Given the description of an element on the screen output the (x, y) to click on. 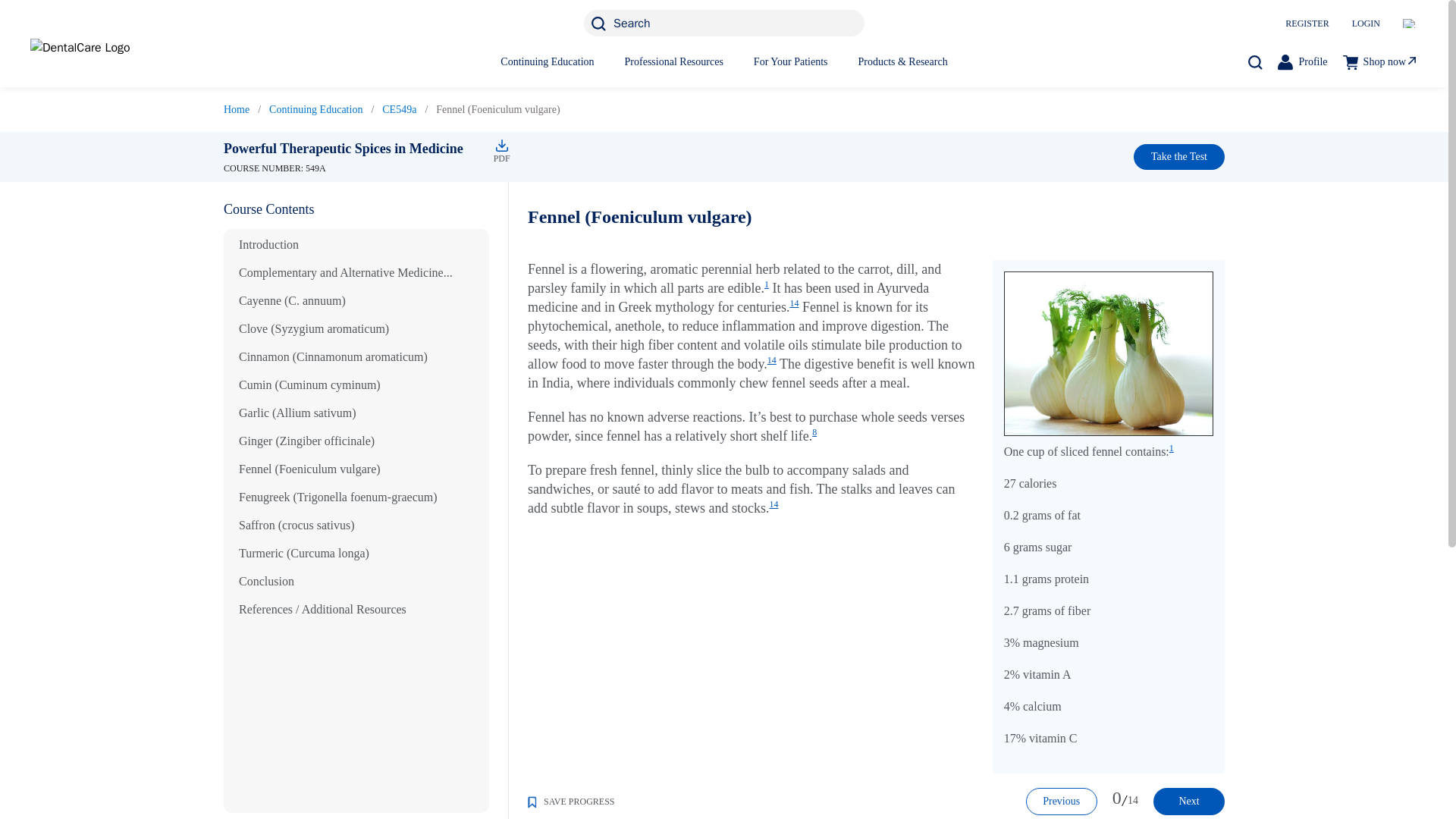
Introduction (268, 244)
Shop now (1380, 61)
Profile (1302, 61)
LOGIN (1366, 22)
For Your Patients (791, 61)
Continuing Education (547, 61)
CE549a (398, 109)
CE549a (398, 109)
Continuing Education (315, 109)
Continuing Education (315, 109)
Complementary and Alternative Medicine... (345, 272)
Home (236, 109)
Home (236, 109)
Professional Resources (673, 61)
PDF (499, 145)
